Given the description of an element on the screen output the (x, y) to click on. 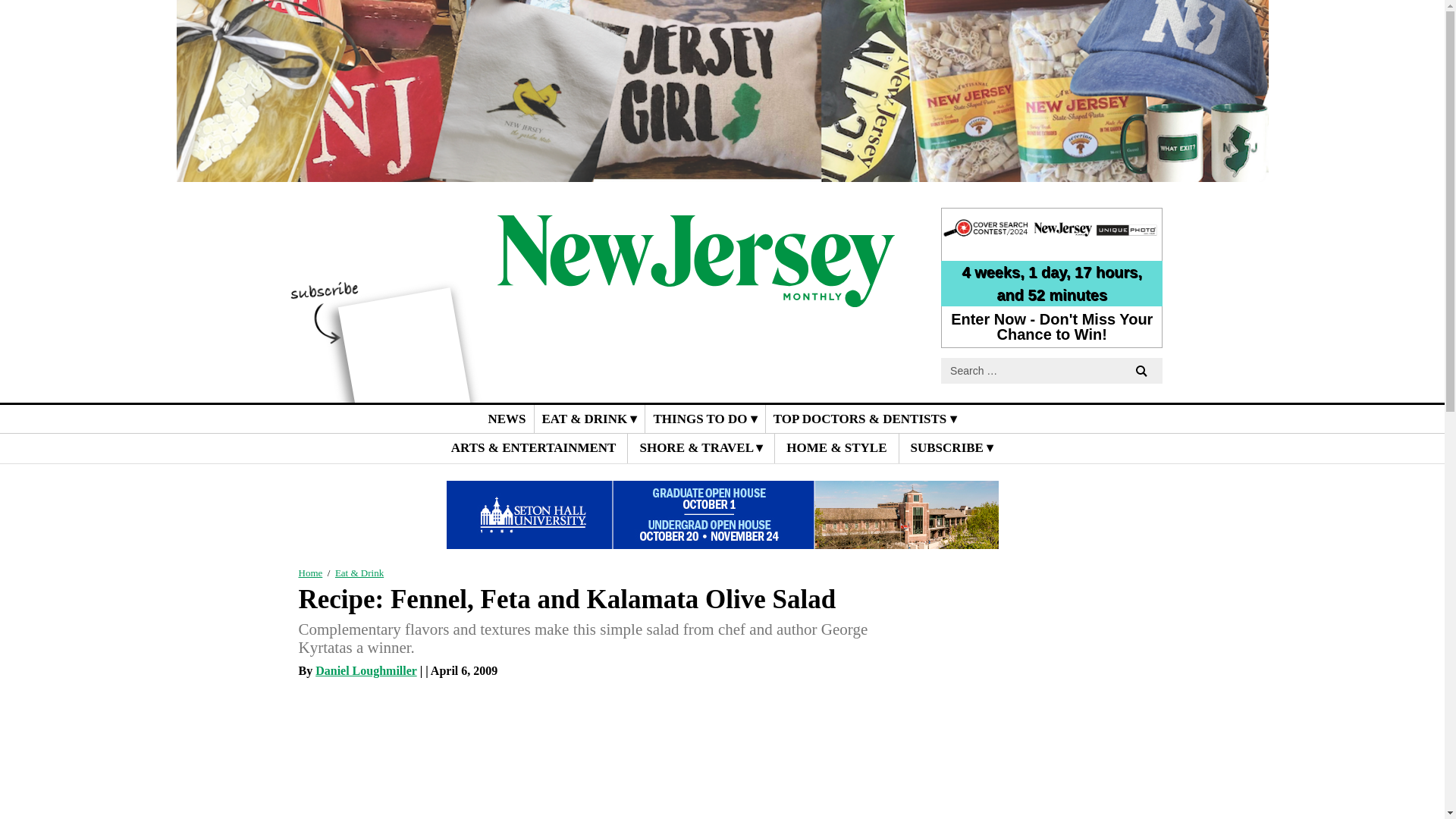
Daniel Loughmiller (365, 670)
Home (310, 572)
New Jersey Monthly (696, 296)
NEWS (506, 418)
Search for: (1050, 370)
